Given the description of an element on the screen output the (x, y) to click on. 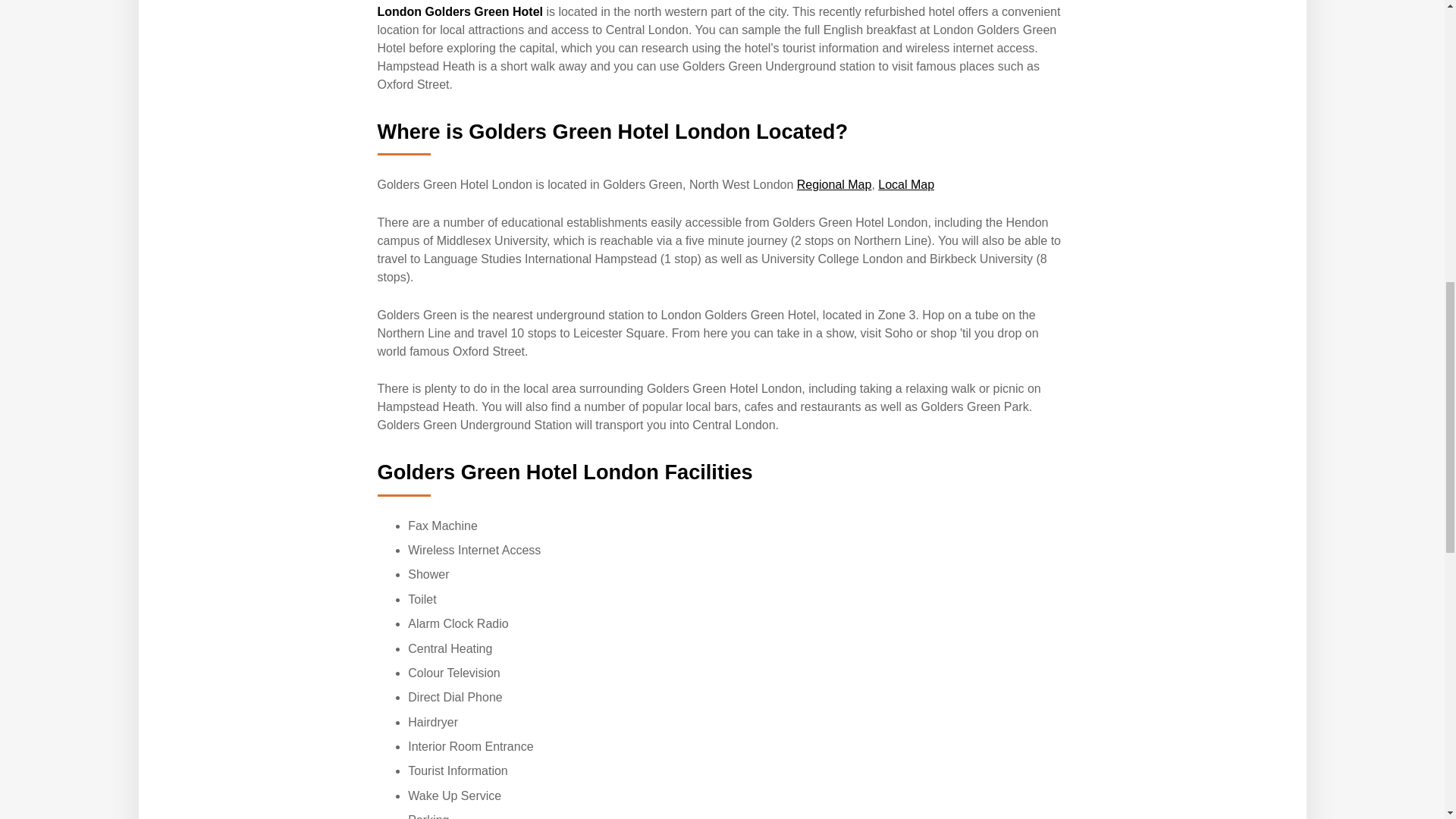
Local Map (905, 184)
Regional Map (834, 184)
